Given the description of an element on the screen output the (x, y) to click on. 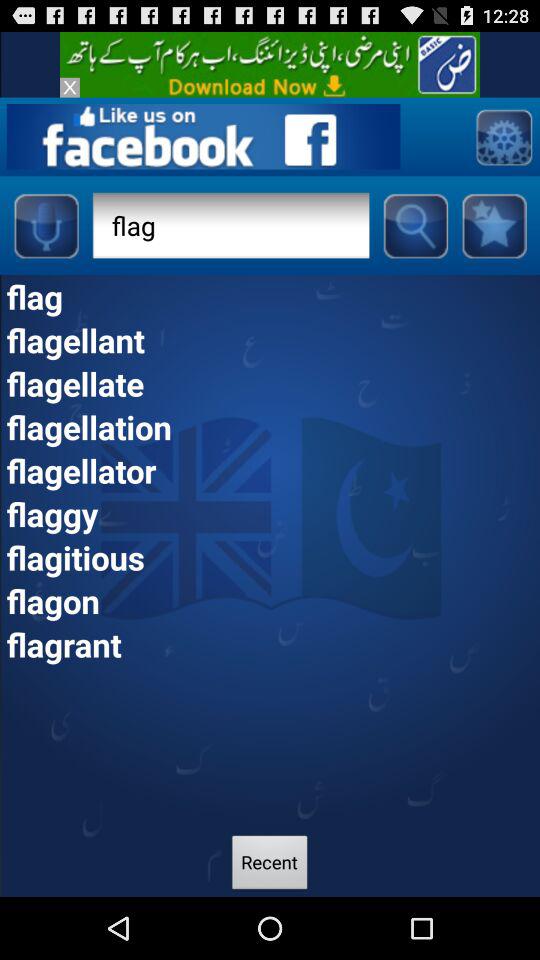
search option (415, 225)
